Given the description of an element on the screen output the (x, y) to click on. 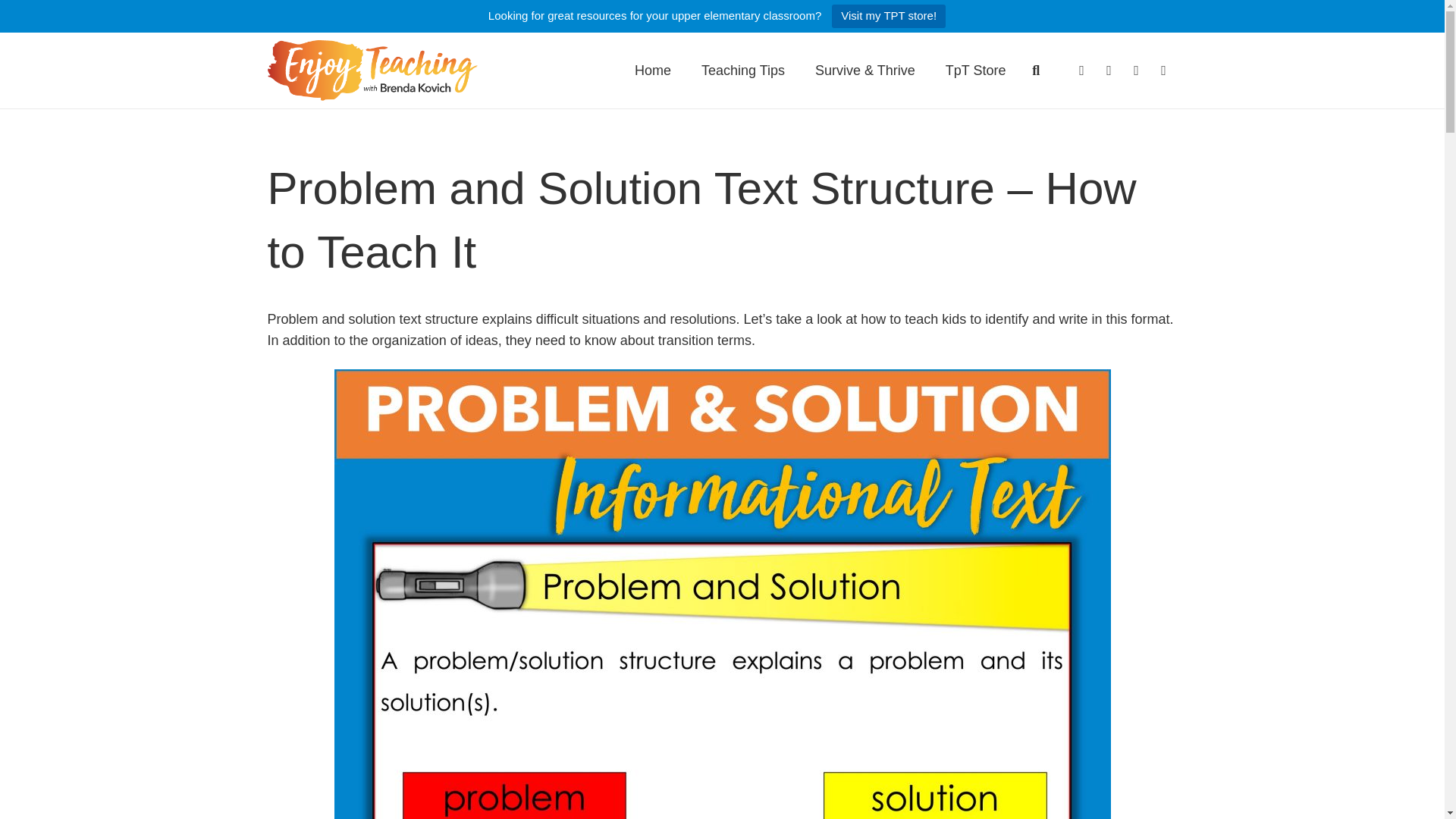
Pinterest (1136, 70)
Visit my TPT store! (887, 15)
Twitter (1108, 70)
LinkedIn (1163, 70)
TpT Store (976, 70)
Teaching Tips (742, 70)
Facebook (1080, 70)
